Given the description of an element on the screen output the (x, y) to click on. 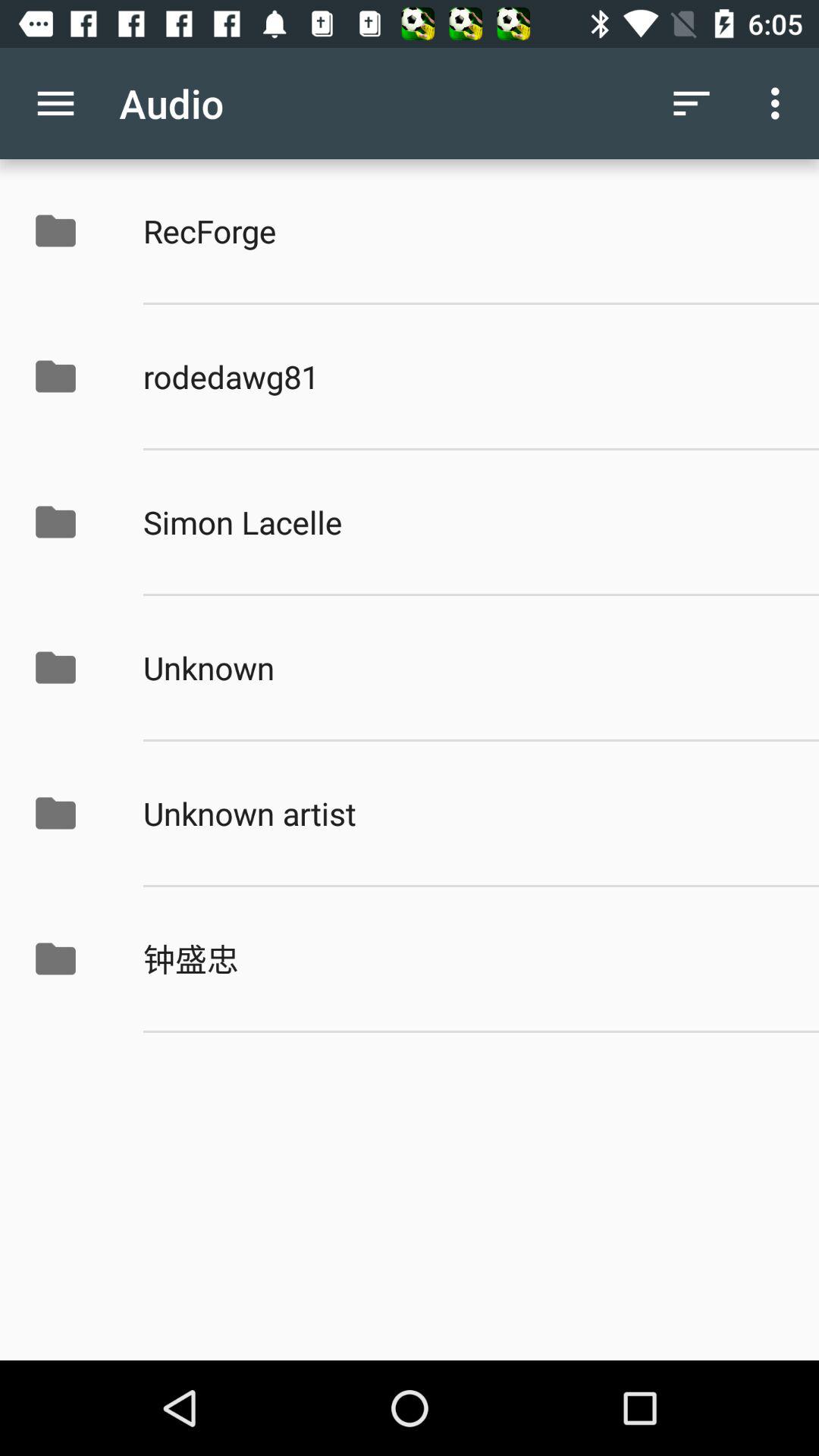
flip to recforge icon (465, 230)
